Given the description of an element on the screen output the (x, y) to click on. 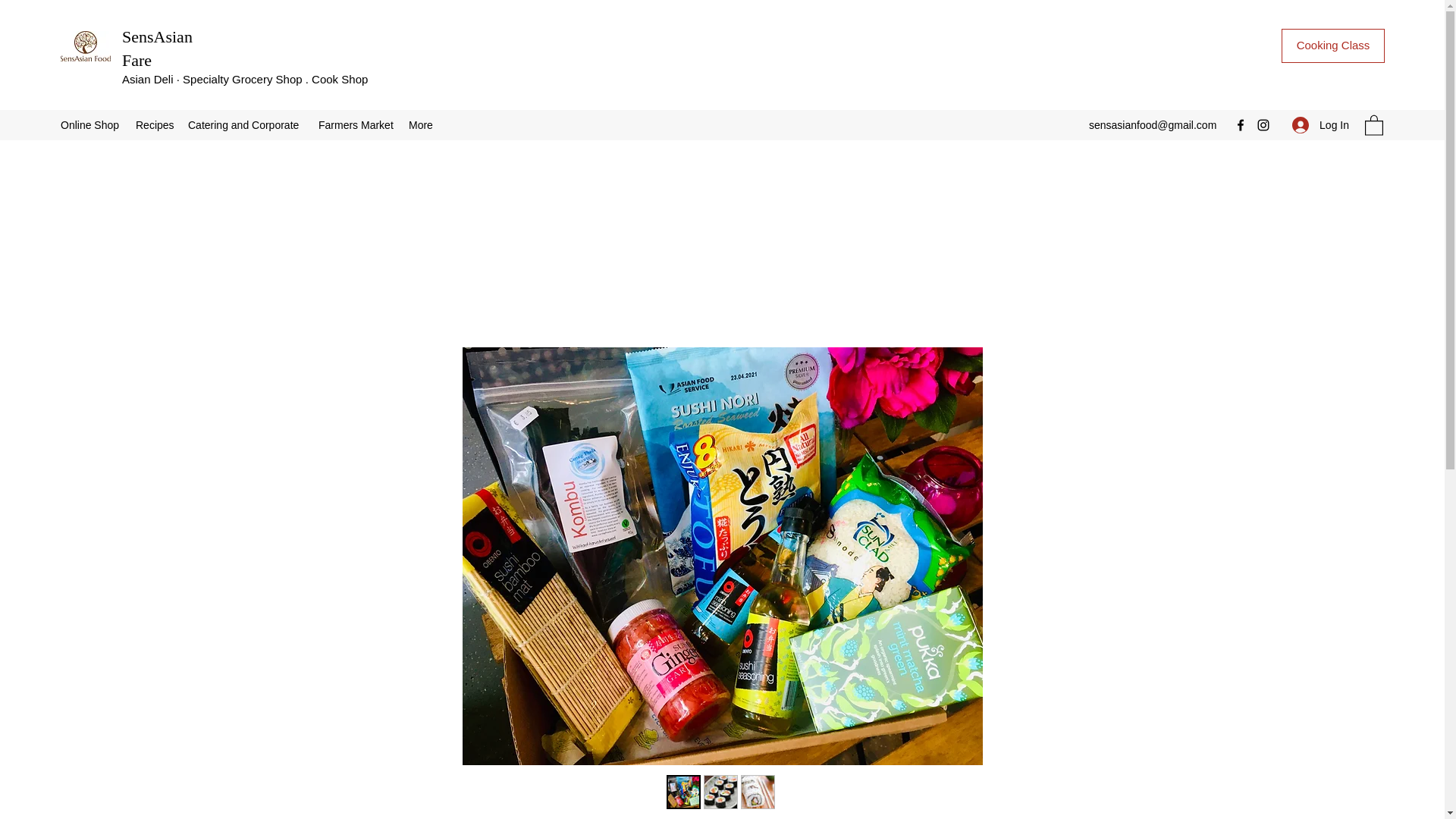
Catering and Corporate (245, 124)
SensAsian Fare (157, 48)
Log In (1320, 124)
Cooking Class (1332, 45)
Recipes (154, 124)
Farmers Market (356, 124)
